Given the description of an element on the screen output the (x, y) to click on. 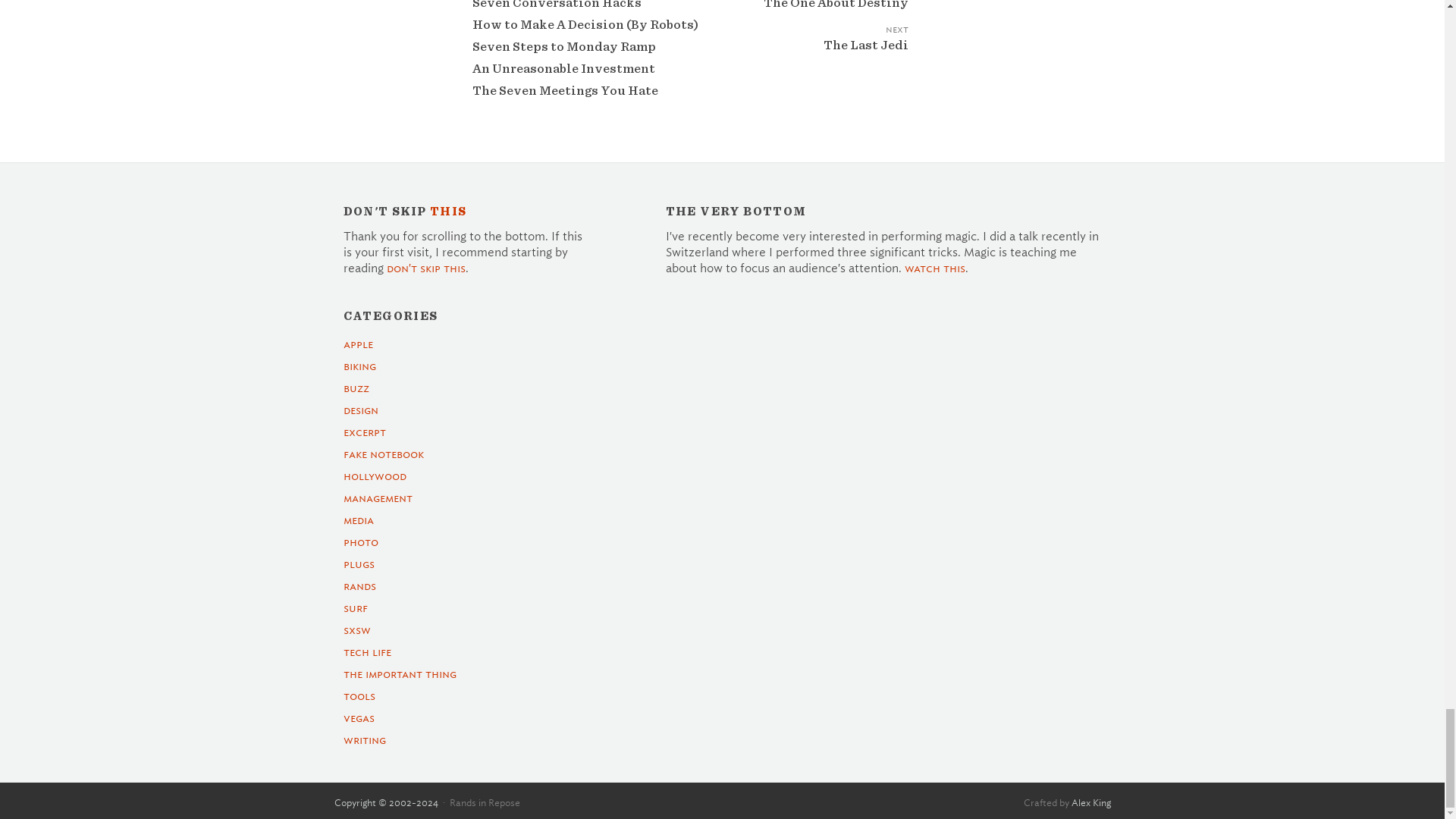
The One About Destiny (818, 15)
Seven Steps to Monday Ramp (563, 46)
The Seven Meetings You Hate (564, 90)
Seven Conversation Hacks (555, 4)
An Unreasonable Investment (562, 68)
The Last Jedi (818, 54)
